Given the description of an element on the screen output the (x, y) to click on. 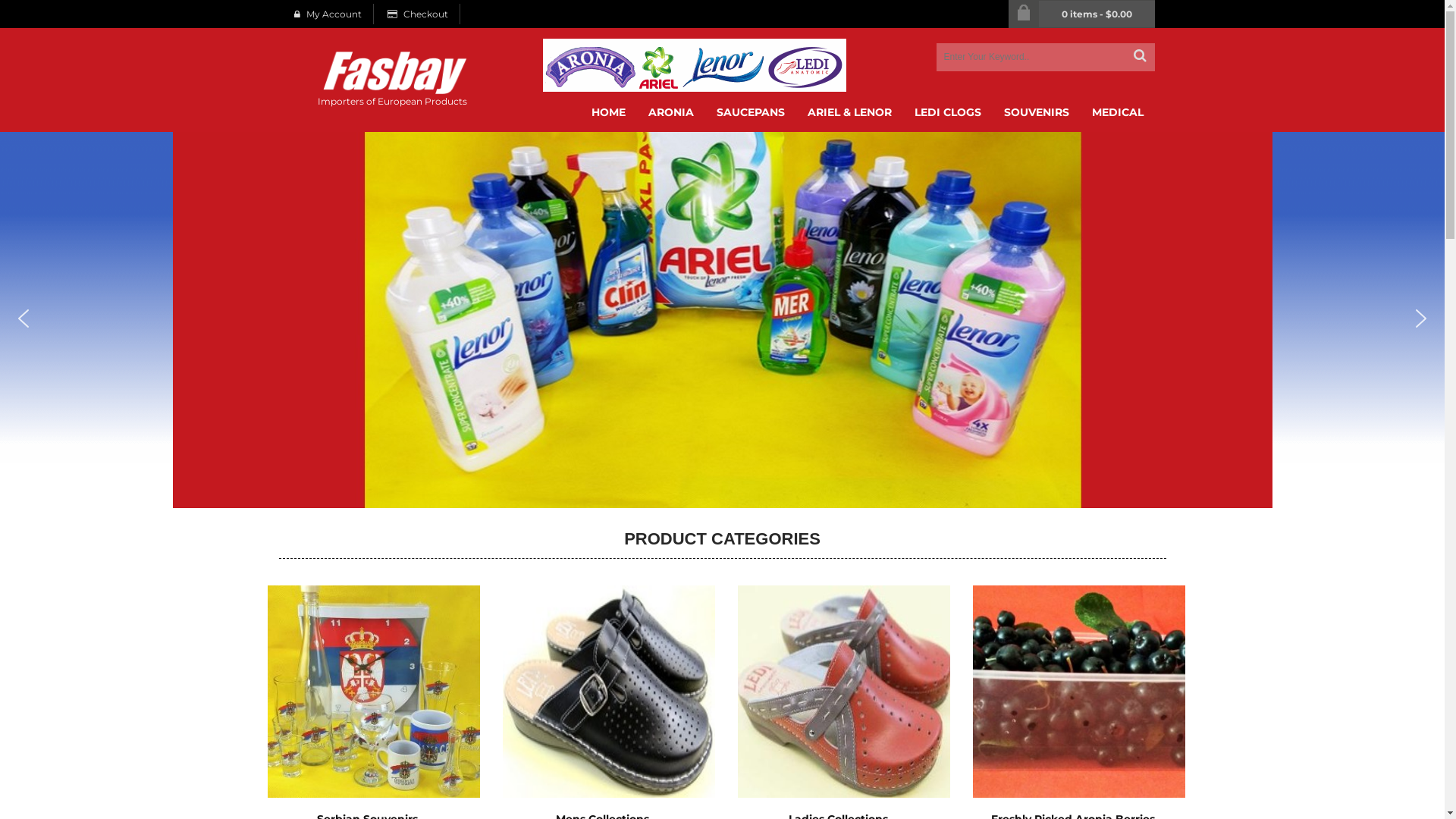
SAUCEPANS Element type: text (750, 112)
My Account Element type: text (331, 13)
ARIEL & LENOR Element type: text (849, 112)
0 items - $0.00 Element type: text (1095, 13)
Checkout Element type: text (421, 13)
MEDICAL Element type: text (1116, 112)
HOME Element type: text (614, 112)
ARONIA Element type: text (671, 112)
LEDI CLOGS Element type: text (946, 112)
SOUVENIRS Element type: text (1035, 112)
